Given the description of an element on the screen output the (x, y) to click on. 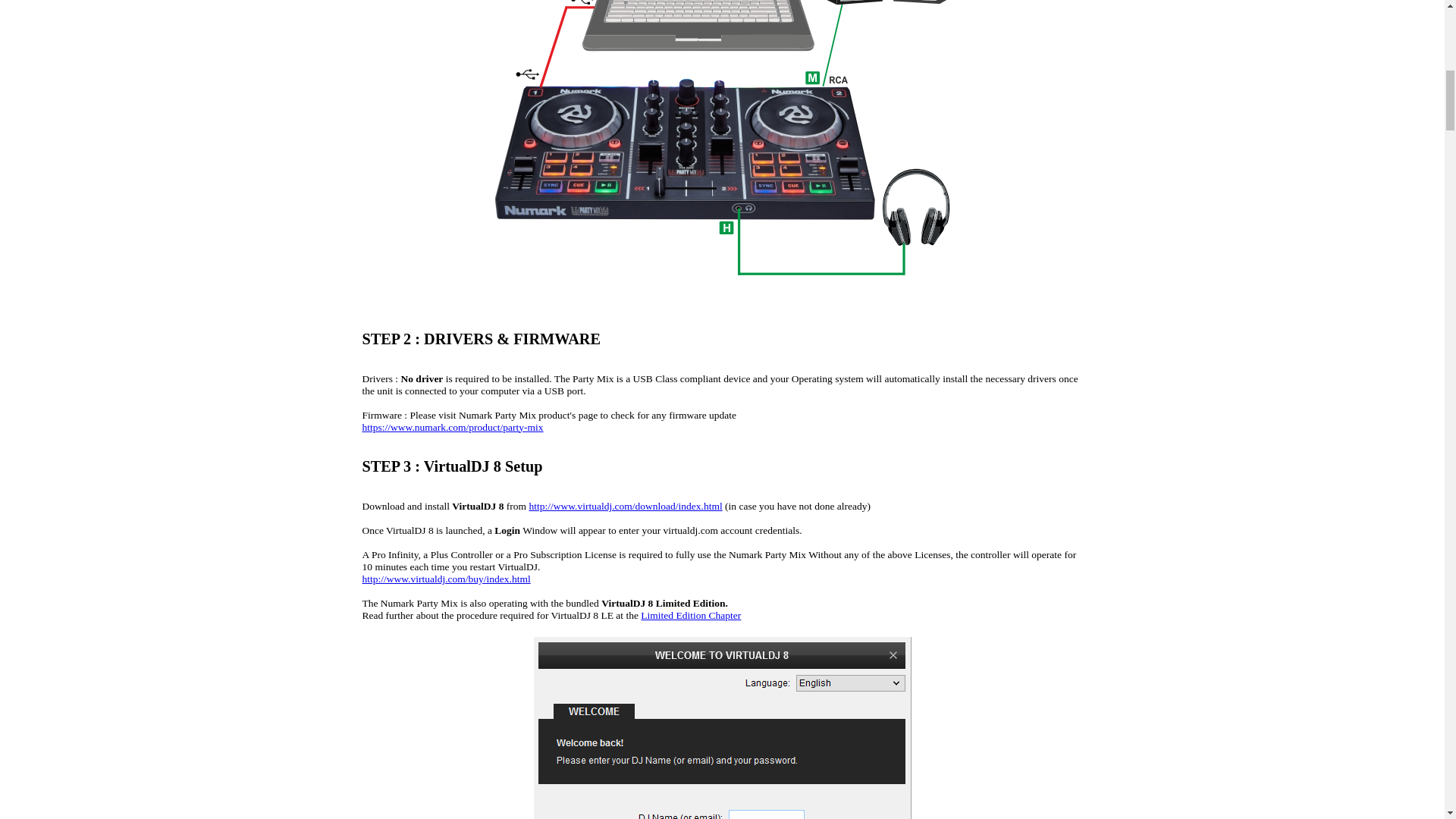
Limited Edition Chapter (690, 614)
